Given the description of an element on the screen output the (x, y) to click on. 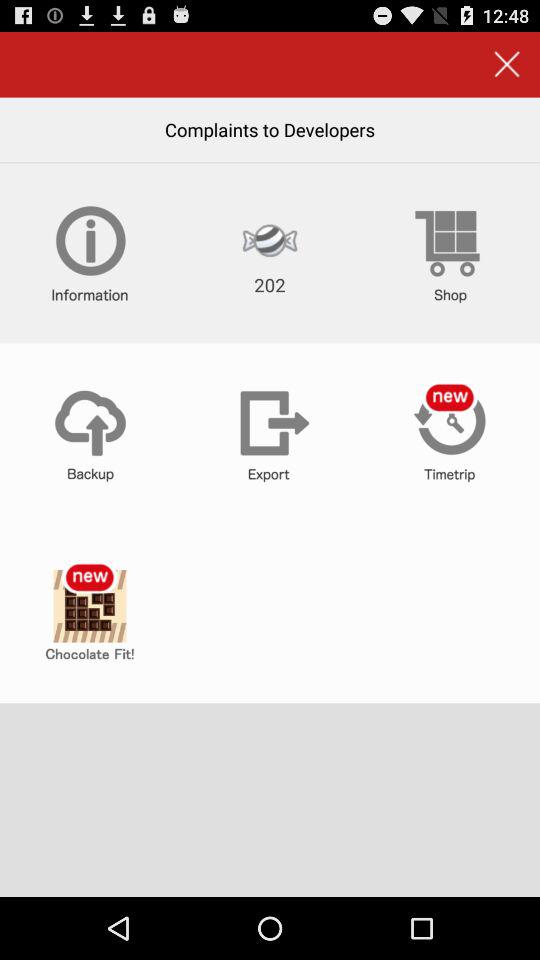
close window (506, 64)
